Given the description of an element on the screen output the (x, y) to click on. 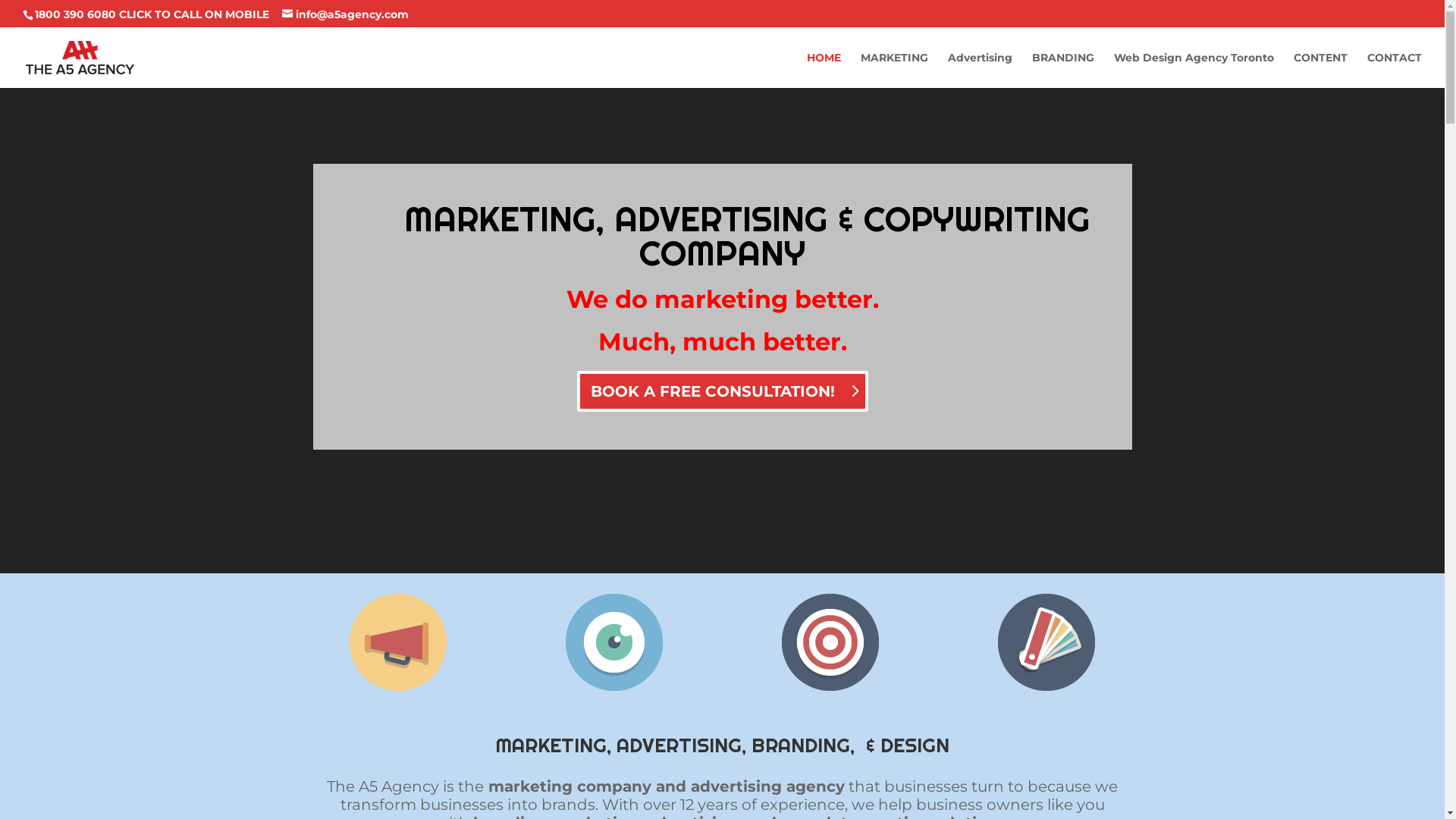
CONTENT Element type: text (1320, 69)
HOME Element type: text (823, 69)
info@a5agency.com Element type: text (345, 14)
CONTACT Element type: text (1394, 69)
Advertising Element type: text (979, 69)
BRANDING Element type: text (1063, 69)
BOOK A FREE CONSULTATION! Element type: text (721, 390)
1800 390 6080 CLICK TO CALL ON MOBILE Element type: text (151, 14)
Web Design Agency Toronto Element type: text (1193, 69)
MARKETING Element type: text (894, 69)
